Given the description of an element on the screen output the (x, y) to click on. 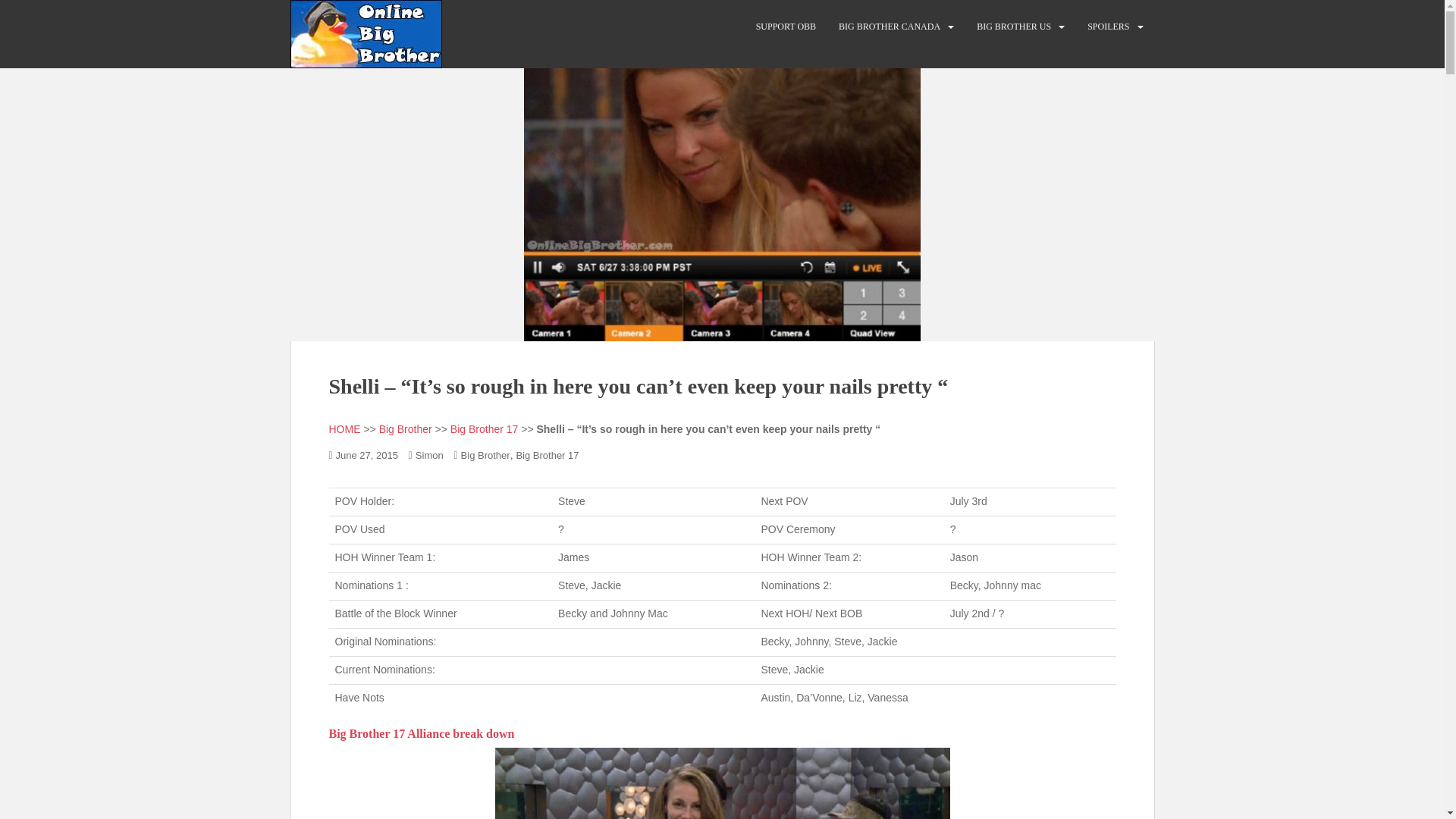
BIG BROTHER US (1013, 26)
SUPPORT OBB (785, 26)
BIG BROTHER CANADA (889, 26)
